Given the description of an element on the screen output the (x, y) to click on. 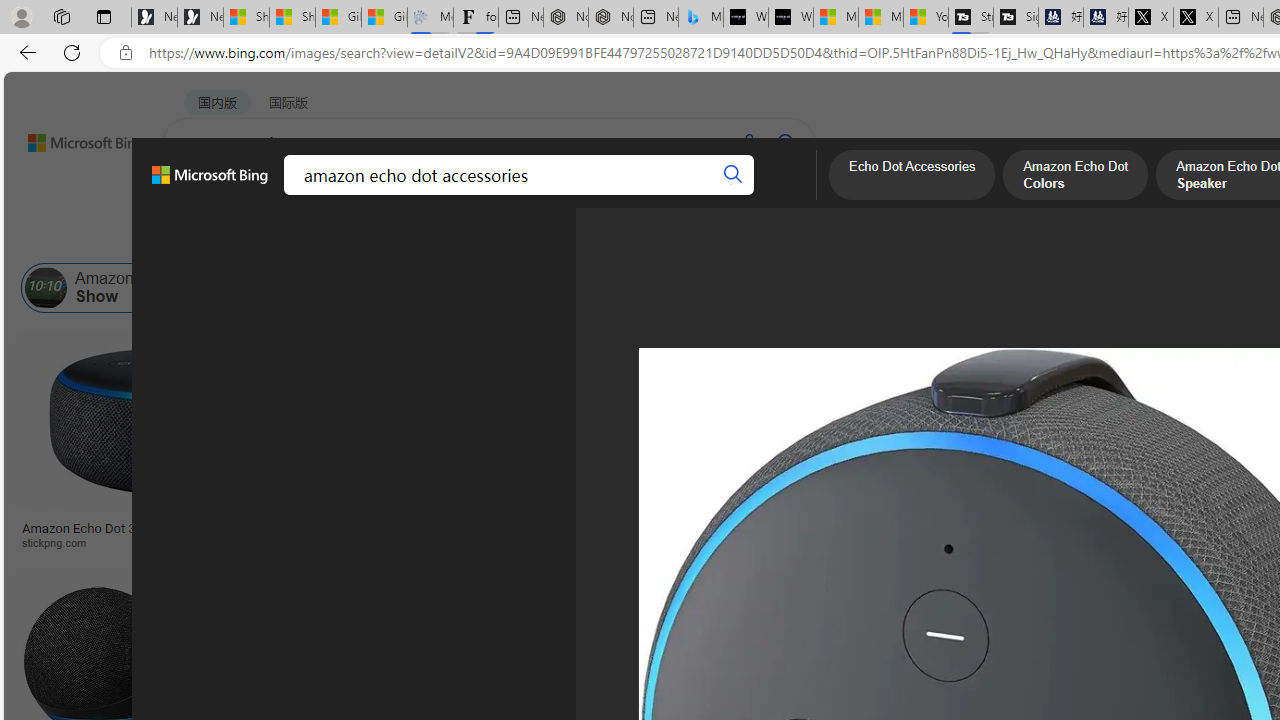
Microsoft Bing, Back to Bing search (209, 183)
WEB (201, 195)
License (665, 237)
Image result for Amazon Echo Dot PNG (1191, 421)
Image size (222, 237)
Amazon Alexa Echo (228, 287)
MAPS (698, 195)
People (521, 237)
Search using voice (748, 142)
Smart Speaker Alexa (995, 521)
Image result for Amazon Echo Dot PNG (1185, 611)
